Given the description of an element on the screen output the (x, y) to click on. 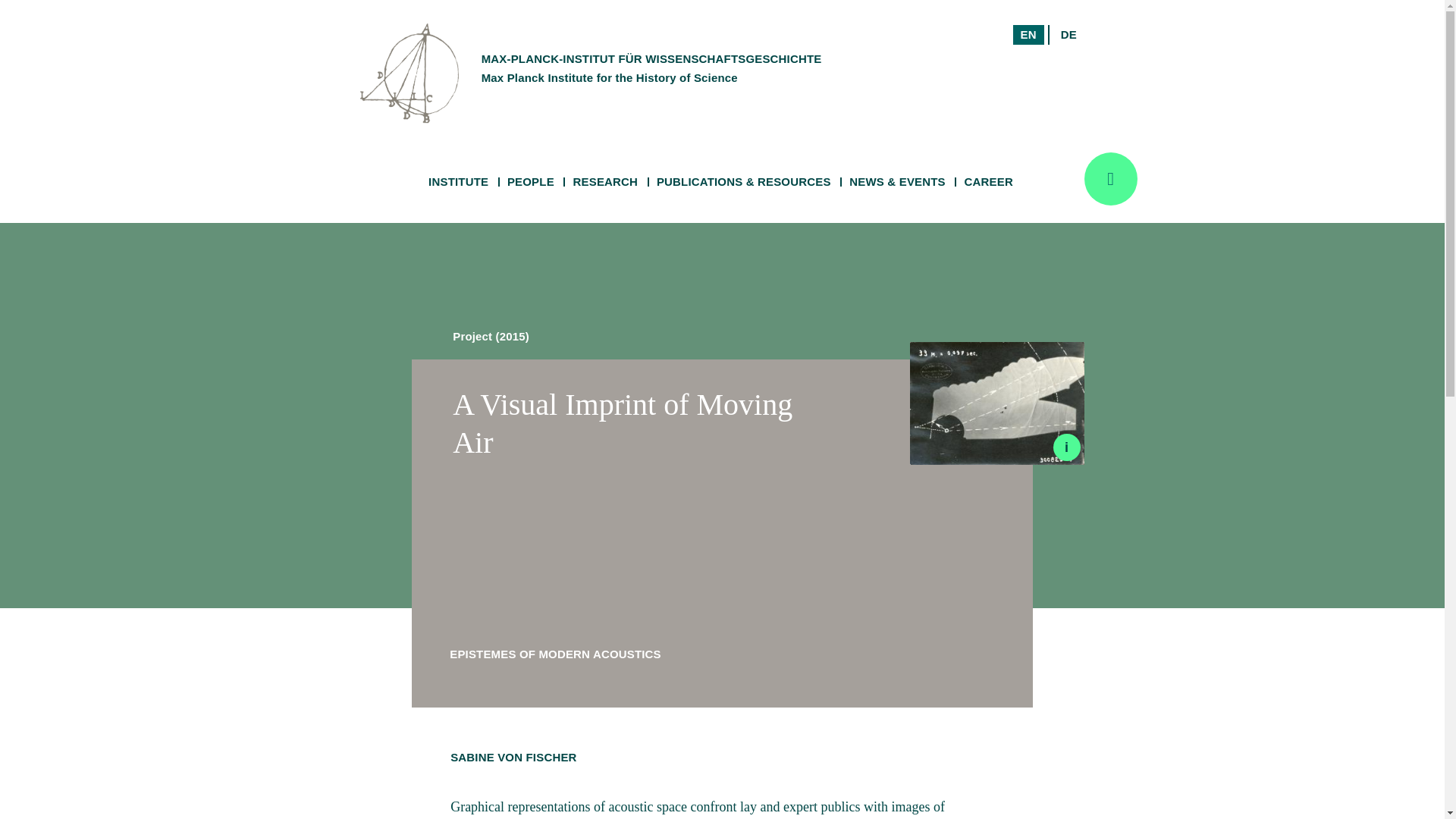
PEOPLE (531, 181)
INSTITUTE (1013, 52)
EN (458, 181)
RESEARCH (1028, 35)
DE (604, 181)
SKIP TO MAIN CONTENT (1068, 35)
